Given the description of an element on the screen output the (x, y) to click on. 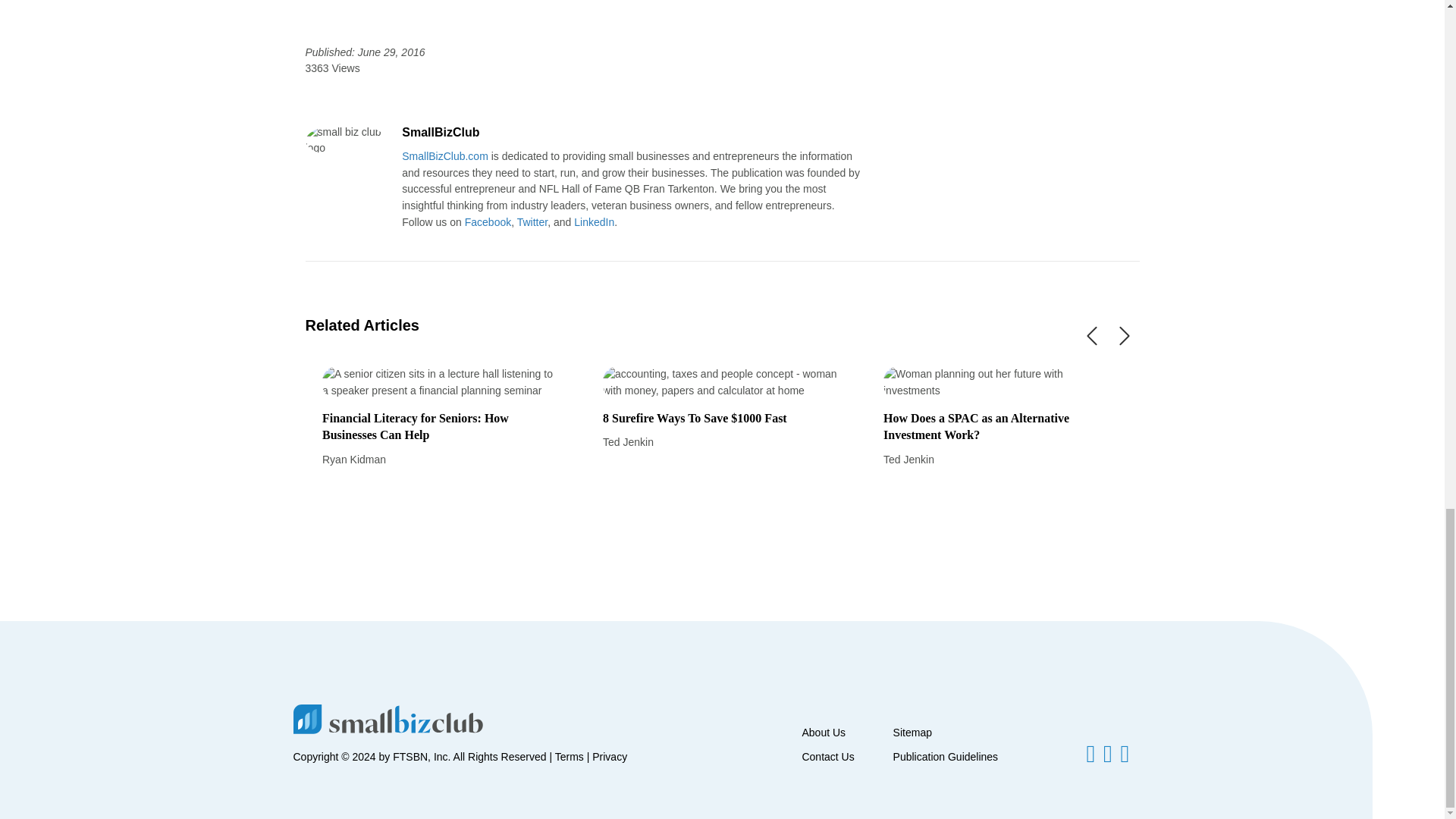
LinkedIn (593, 222)
SmallBizClub-Primary-Logo-2023 (386, 718)
Facebook (487, 222)
SmallBizClub.com (444, 155)
Twitter (531, 222)
